Given the description of an element on the screen output the (x, y) to click on. 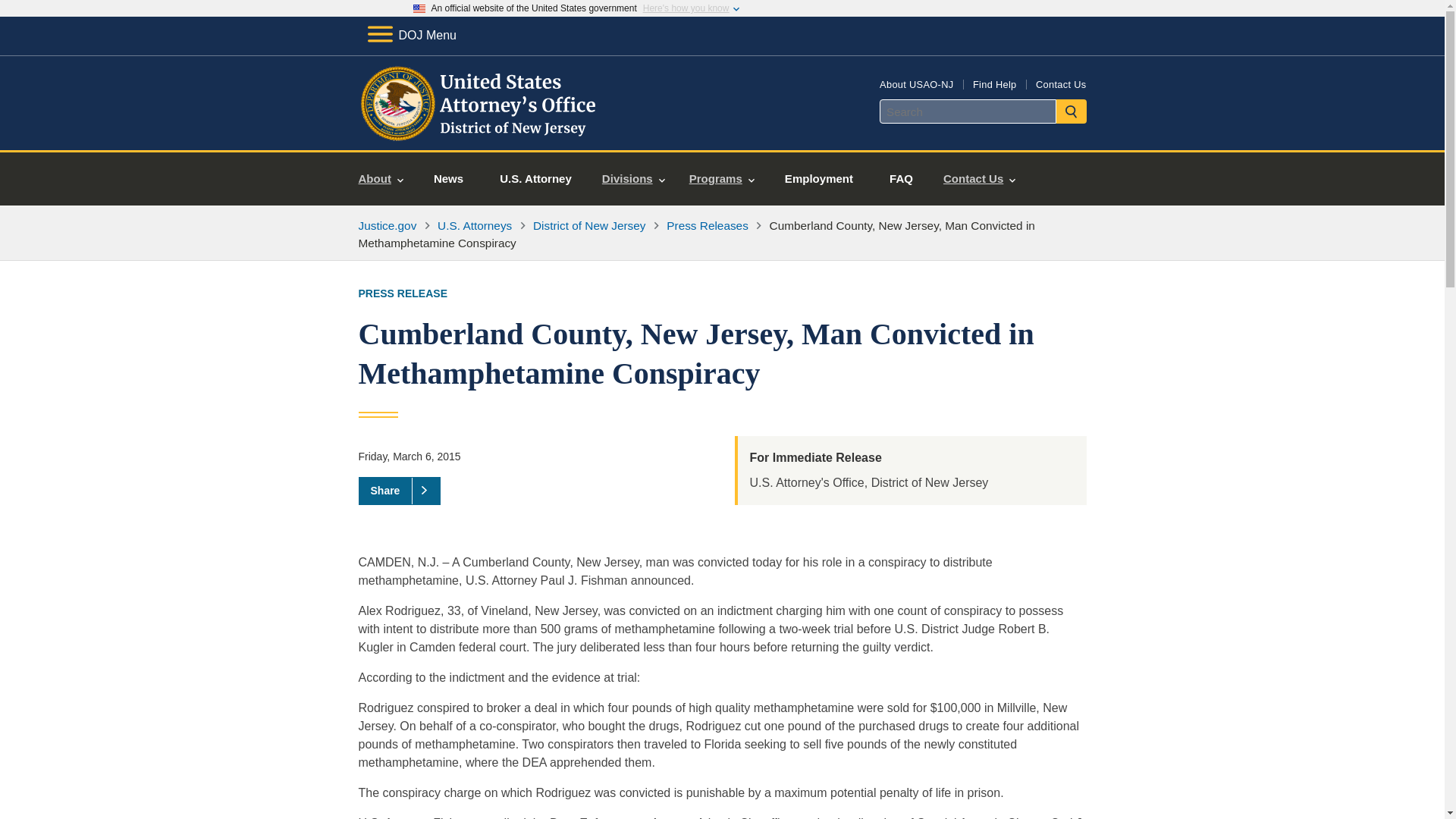
U.S. Attorneys (475, 225)
Home (481, 132)
Justice.gov (387, 225)
DOJ Menu (411, 35)
News (447, 179)
Programs (722, 179)
Contact Us (979, 179)
Contact Us (1060, 84)
Find Help (994, 84)
Press Releases (707, 225)
